Given the description of an element on the screen output the (x, y) to click on. 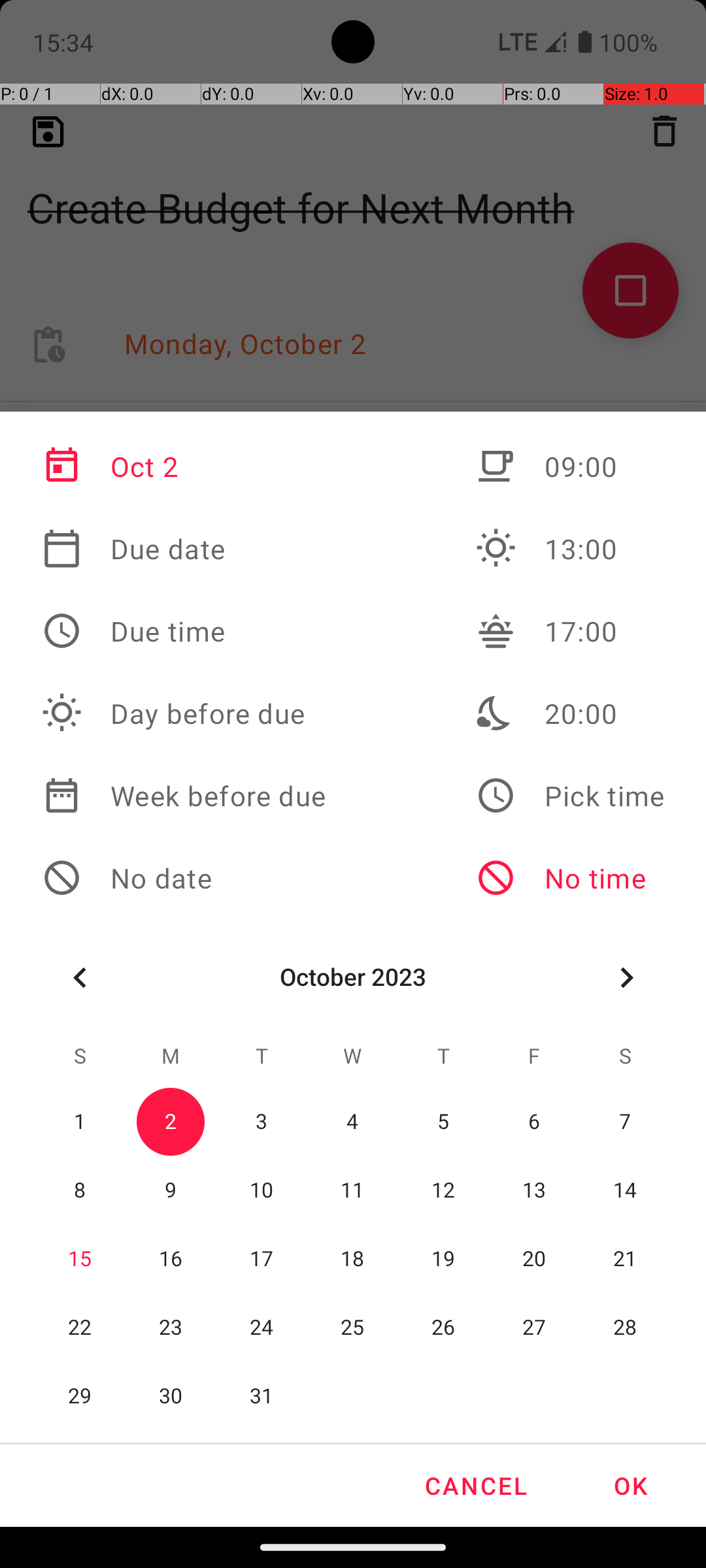
Oct 2 Element type: android.widget.CompoundButton (183, 466)
Due date Element type: android.widget.CompoundButton (183, 548)
Due time Element type: android.widget.CompoundButton (183, 630)
Day before due Element type: android.widget.CompoundButton (183, 713)
Week before due Element type: android.widget.CompoundButton (183, 795)
